Given the description of an element on the screen output the (x, y) to click on. 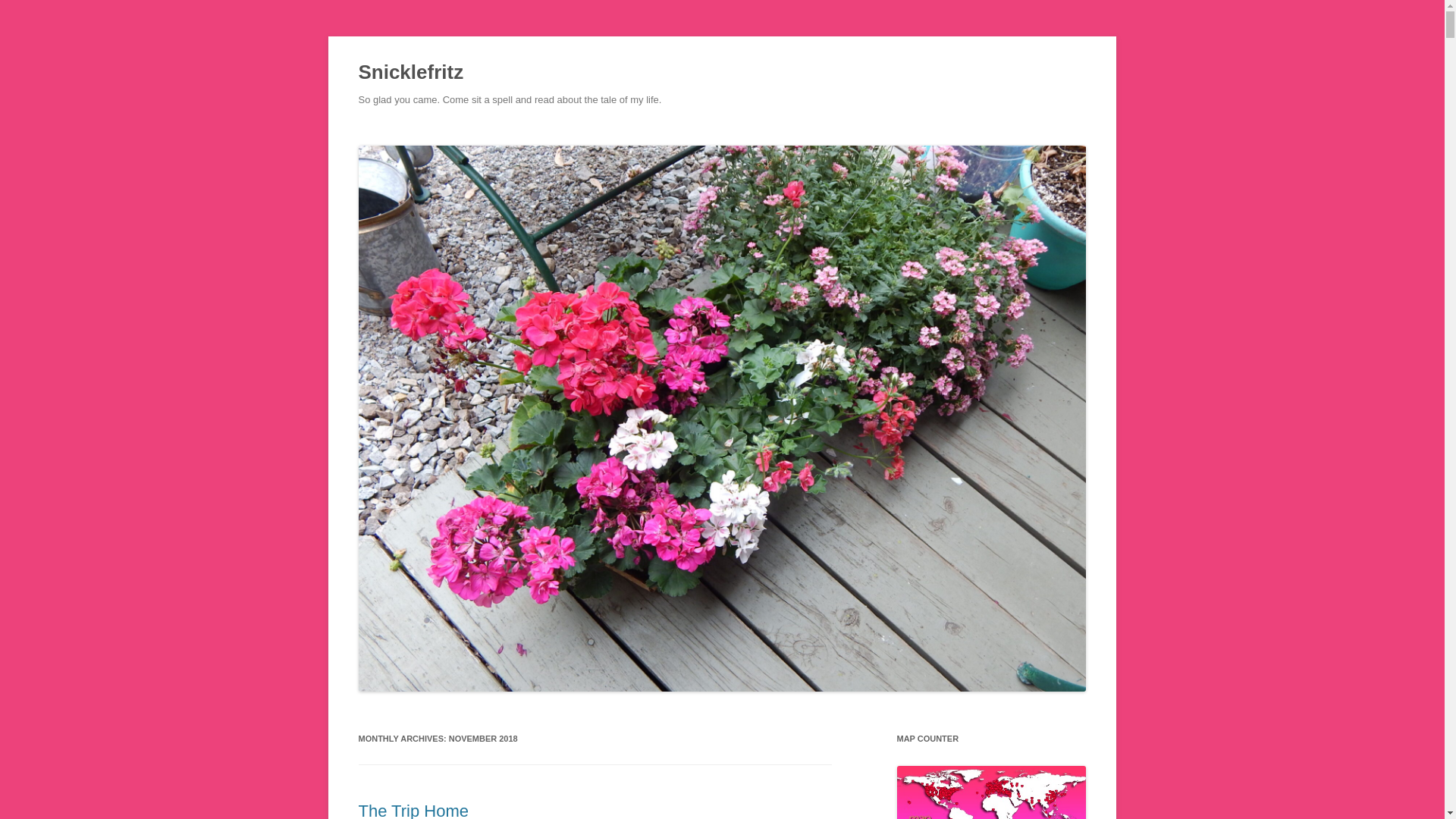
Snicklefritz (410, 72)
Skip to content (757, 132)
Skip to content (757, 132)
Snicklefritz (410, 72)
Locations of Site Visitors (991, 792)
The Trip Home (413, 810)
